Given the description of an element on the screen output the (x, y) to click on. 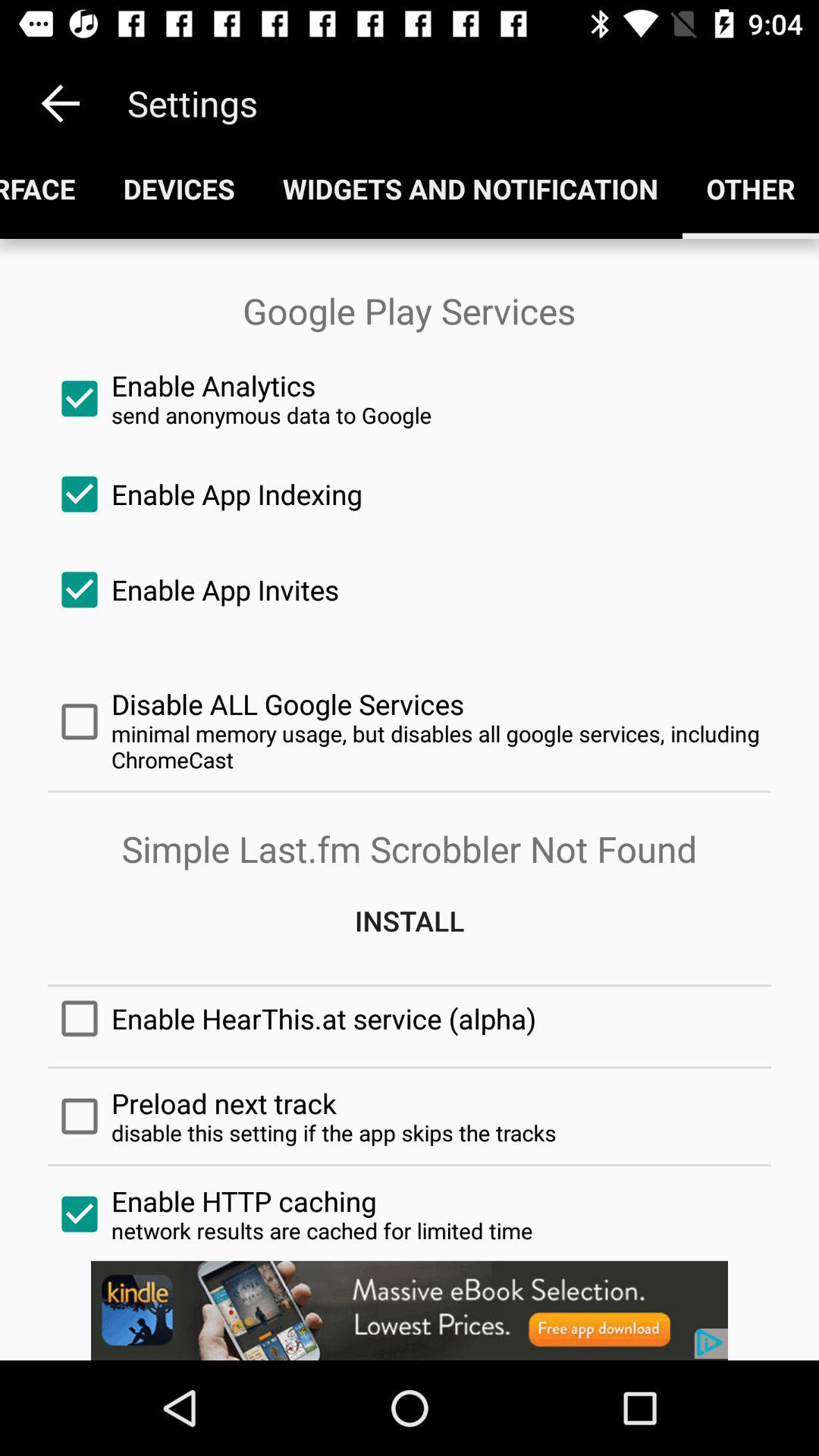
go to advertisement (409, 1310)
